Given the description of an element on the screen output the (x, y) to click on. 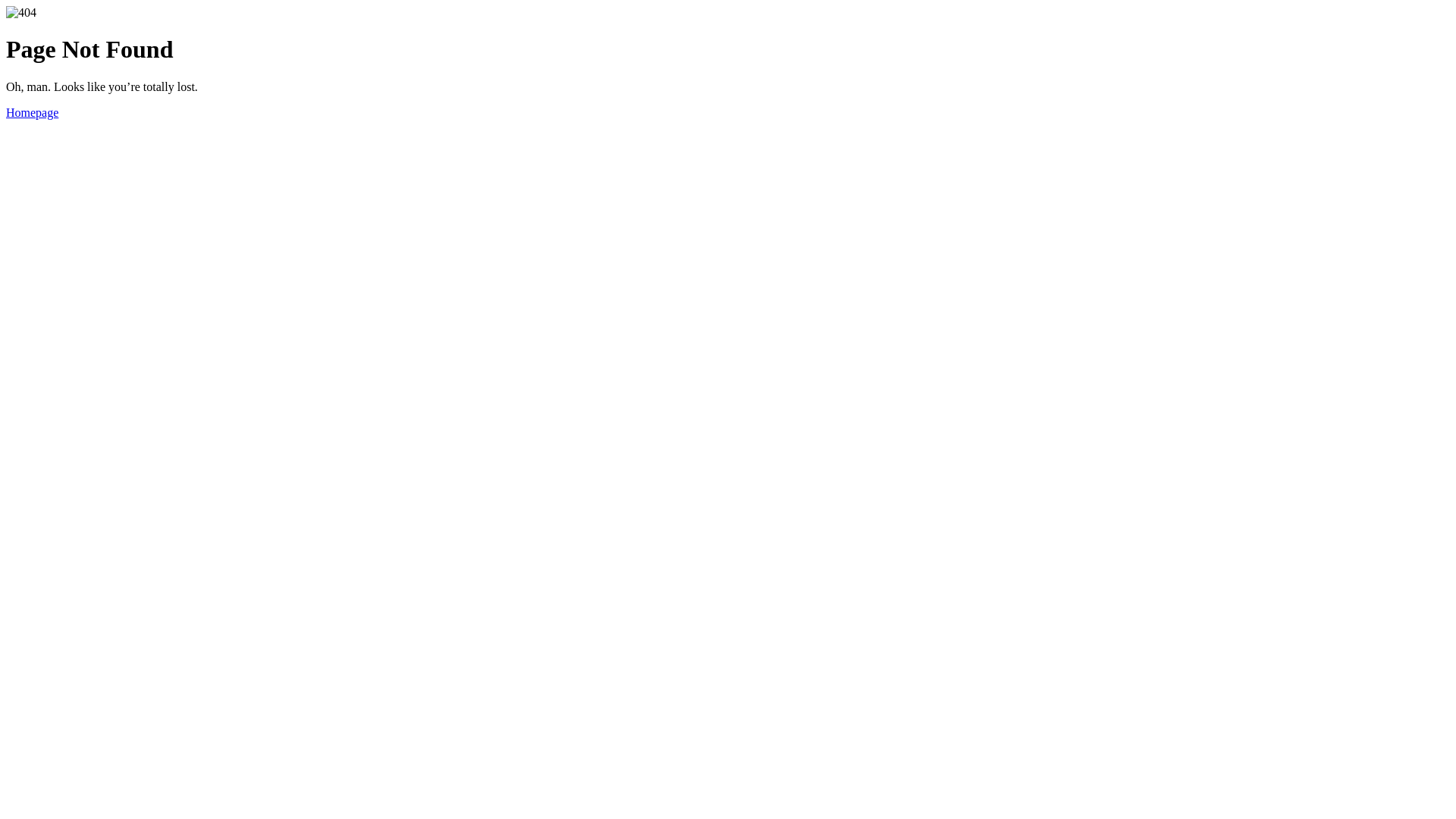
Homepage Element type: text (32, 112)
